Given the description of an element on the screen output the (x, y) to click on. 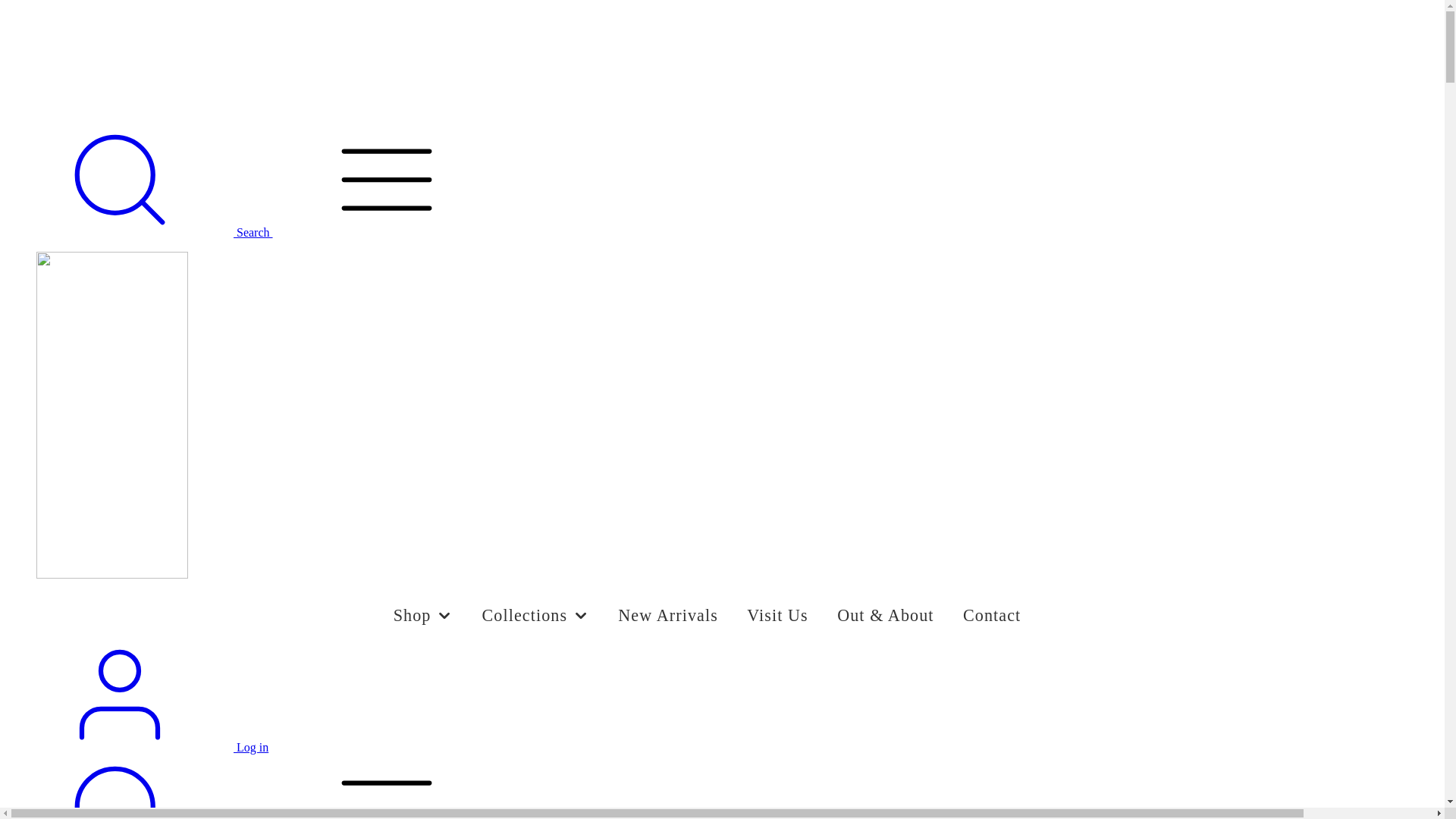
Out & About Element type: text (885, 615)
Shop Element type: text (422, 615)
Search Element type: text (139, 231)
Visit Us Element type: text (777, 615)
Contact Element type: text (991, 615)
New Arrivals Element type: text (667, 615)
Log in Element type: text (137, 746)
Collections Element type: text (535, 615)
